Given the description of an element on the screen output the (x, y) to click on. 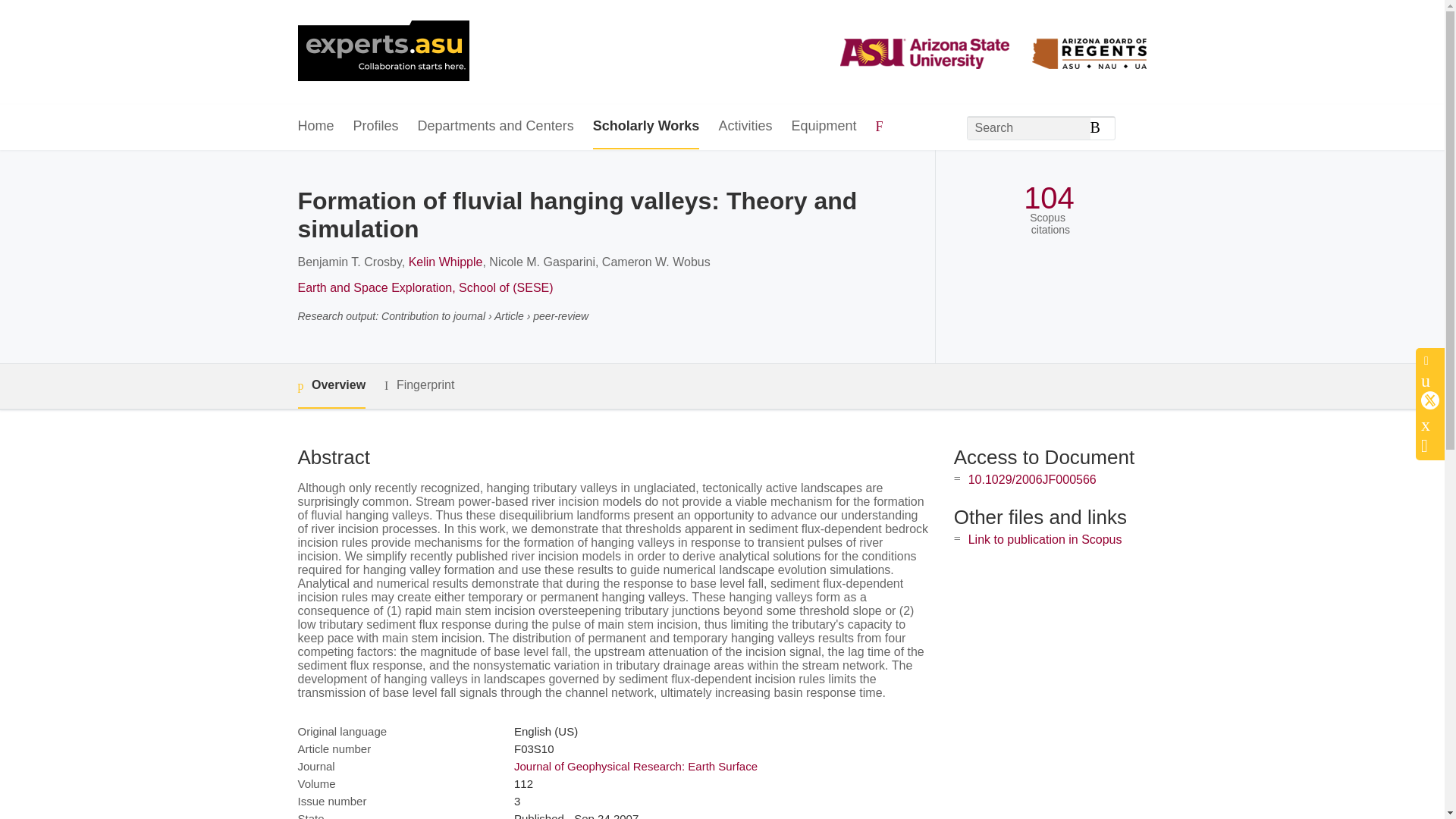
Profiles (375, 126)
Scholarly Works (646, 126)
Activities (744, 126)
Link to publication in Scopus (1045, 539)
Equipment (823, 126)
Departments and Centers (495, 126)
Overview (331, 385)
104 (1048, 198)
Fingerprint (419, 385)
